Given the description of an element on the screen output the (x, y) to click on. 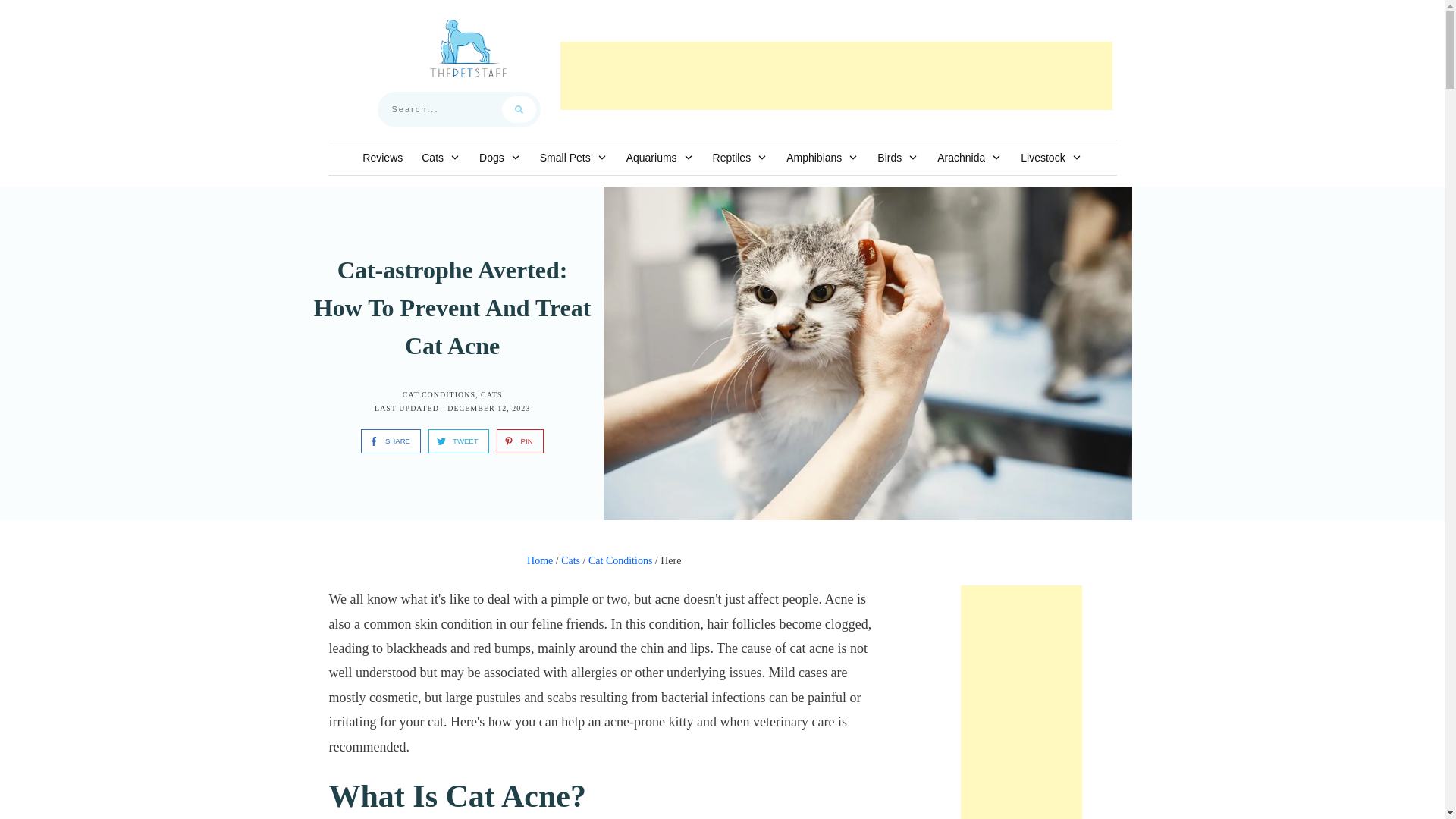
Reviews (382, 157)
Small Pets (573, 157)
Dogs (500, 157)
Cats (491, 394)
Advertisement (836, 75)
Cat Conditions (439, 394)
Cats (441, 157)
